Given the description of an element on the screen output the (x, y) to click on. 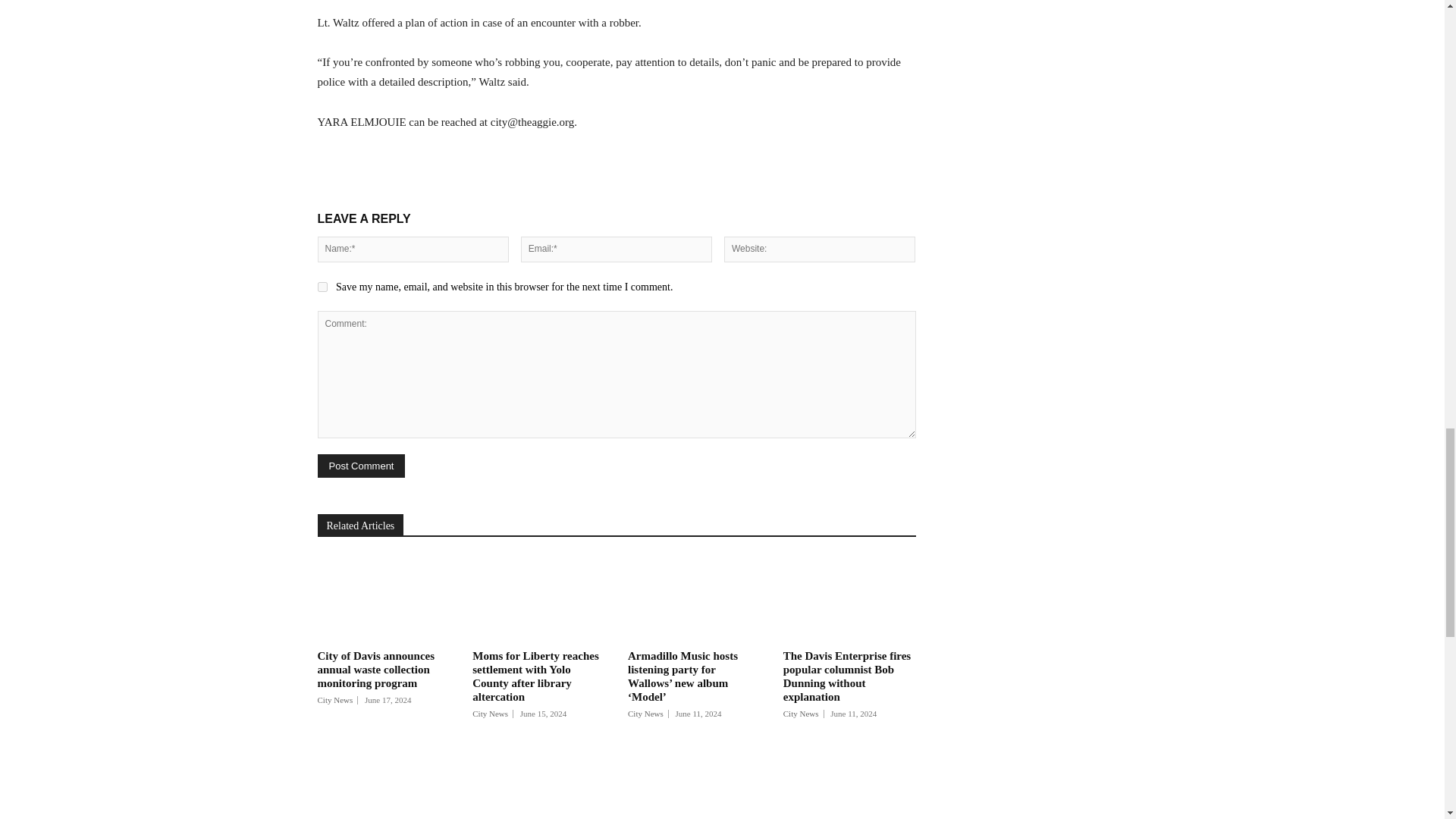
Post Comment (360, 465)
yes (321, 286)
